Given the description of an element on the screen output the (x, y) to click on. 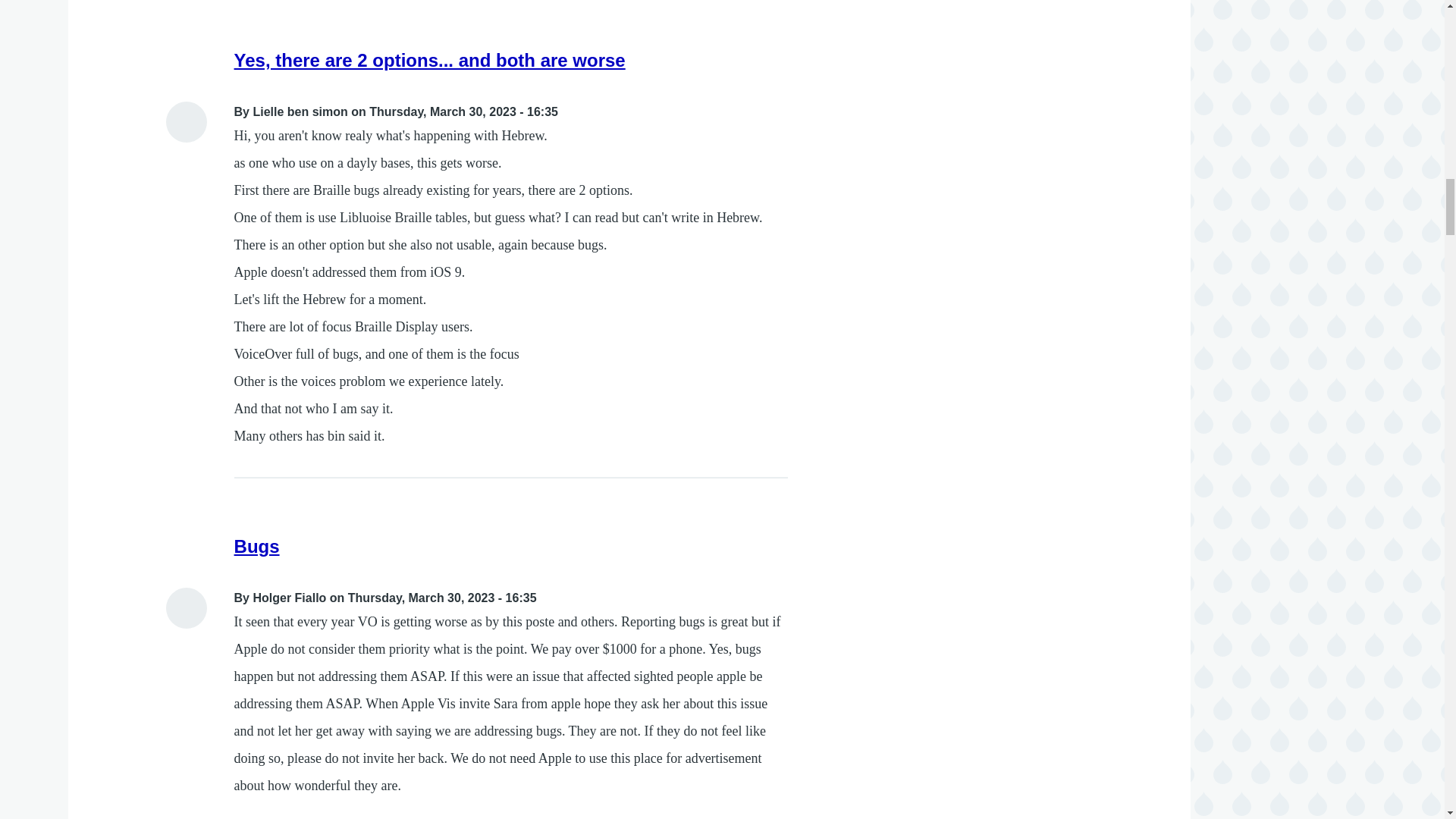
Bugs (256, 546)
Yes, there are 2 options... and both are worse (430, 59)
